Given the description of an element on the screen output the (x, y) to click on. 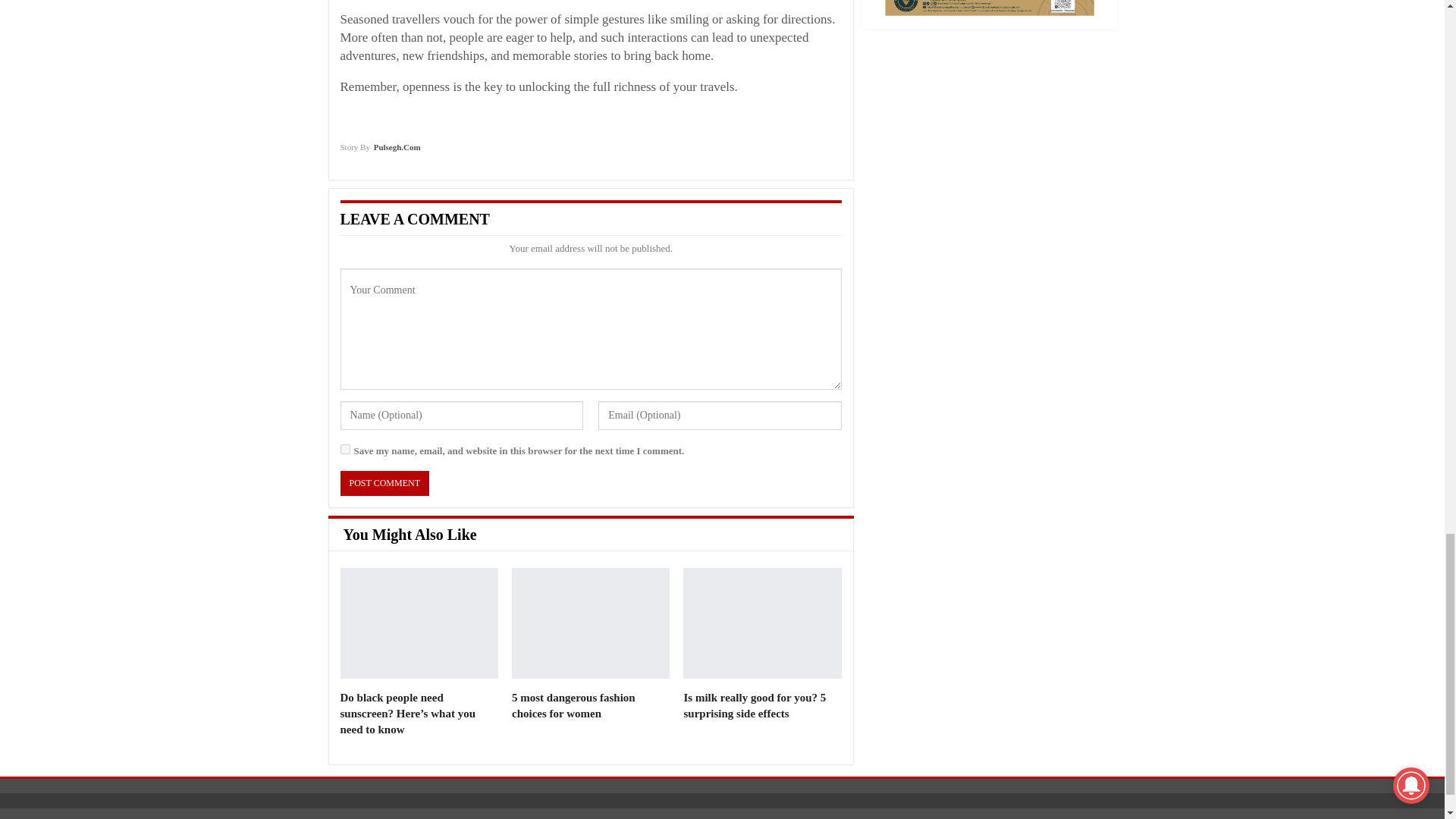
yes (344, 449)
5 most dangerous fashion choices for women (573, 705)
5 most dangerous fashion choices for women (573, 705)
Post Comment (383, 483)
Is milk really good for you? 5 surprising side effects (761, 623)
Is milk really good for you? 5 surprising side effects (753, 705)
Post Comment (383, 483)
Story By Pulsegh.Com (379, 152)
Browse Author Articles (379, 152)
Is milk really good for you? 5 surprising side effects (753, 705)
